Given the description of an element on the screen output the (x, y) to click on. 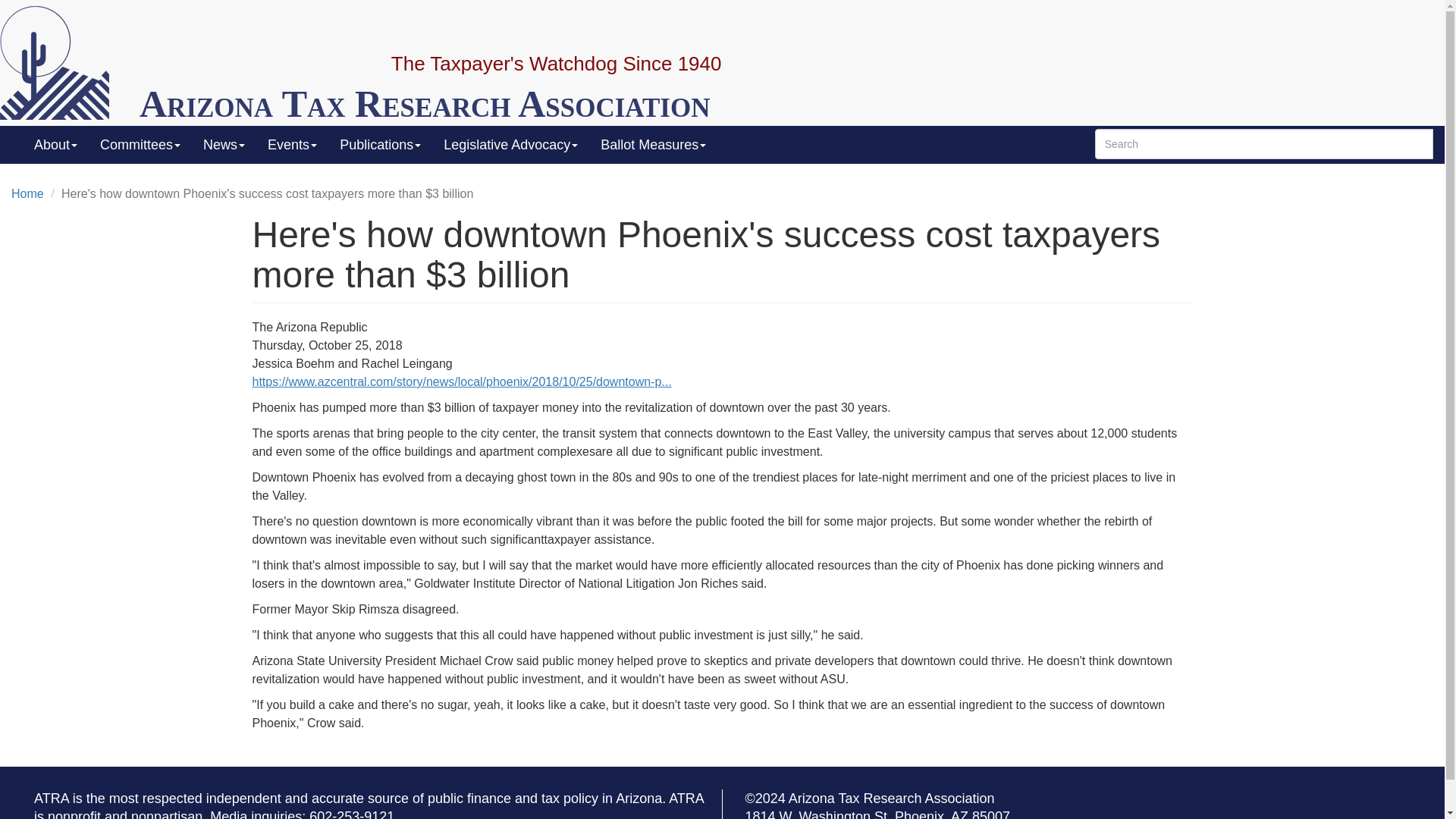
News (224, 144)
About (55, 144)
Arizona Tax Research Association (424, 103)
Home (64, 62)
Home (424, 103)
Committees (140, 144)
Enter the terms you wish to search for. (1263, 143)
